Given the description of an element on the screen output the (x, y) to click on. 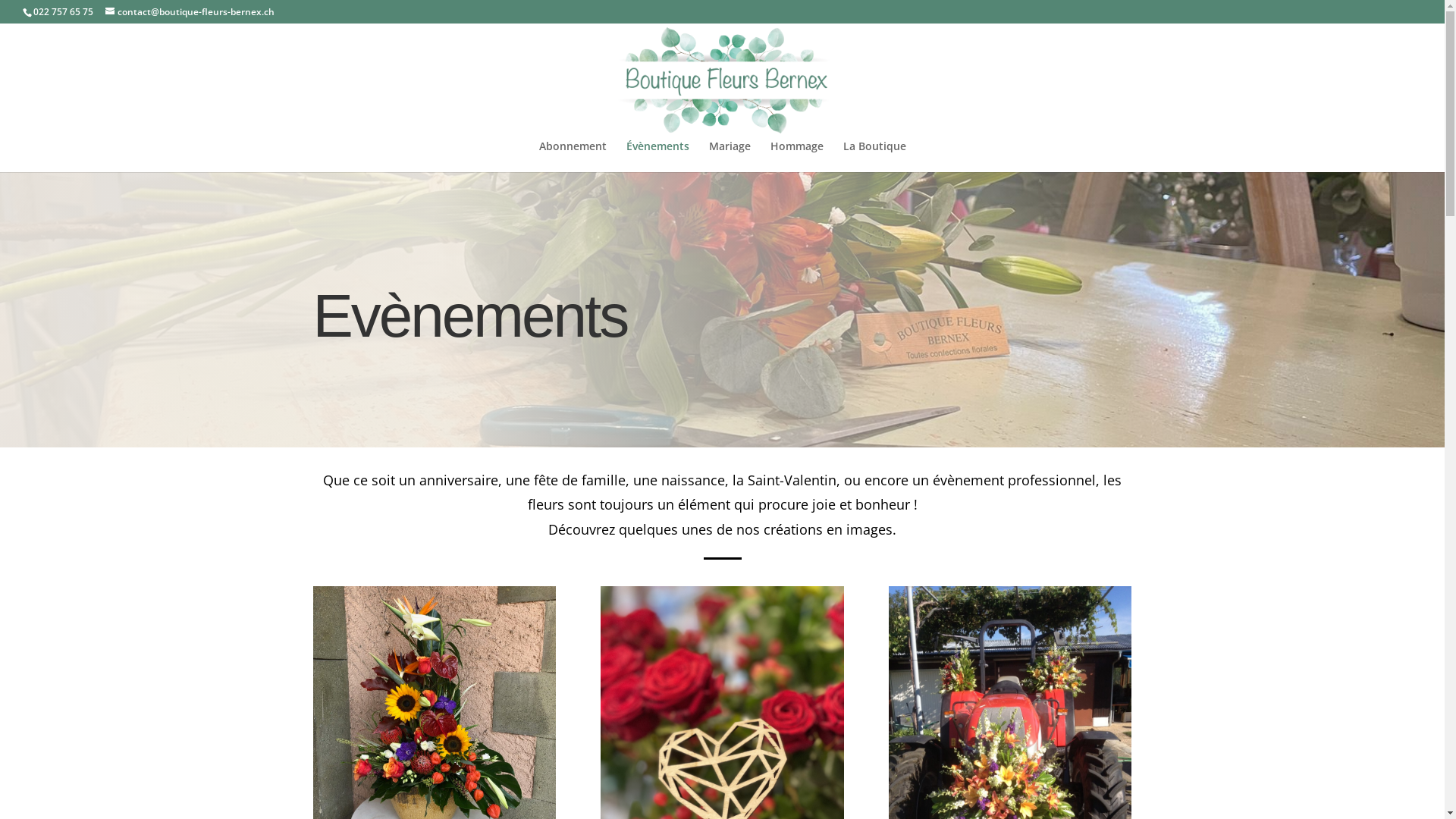
contact@boutique-fleurs-bernex.ch Element type: text (189, 11)
La Boutique Element type: text (874, 156)
022 757 65 75 Element type: text (63, 11)
Abonnement Element type: text (571, 156)
Mariage Element type: text (728, 156)
Hommage Element type: text (796, 156)
